Given the description of an element on the screen output the (x, y) to click on. 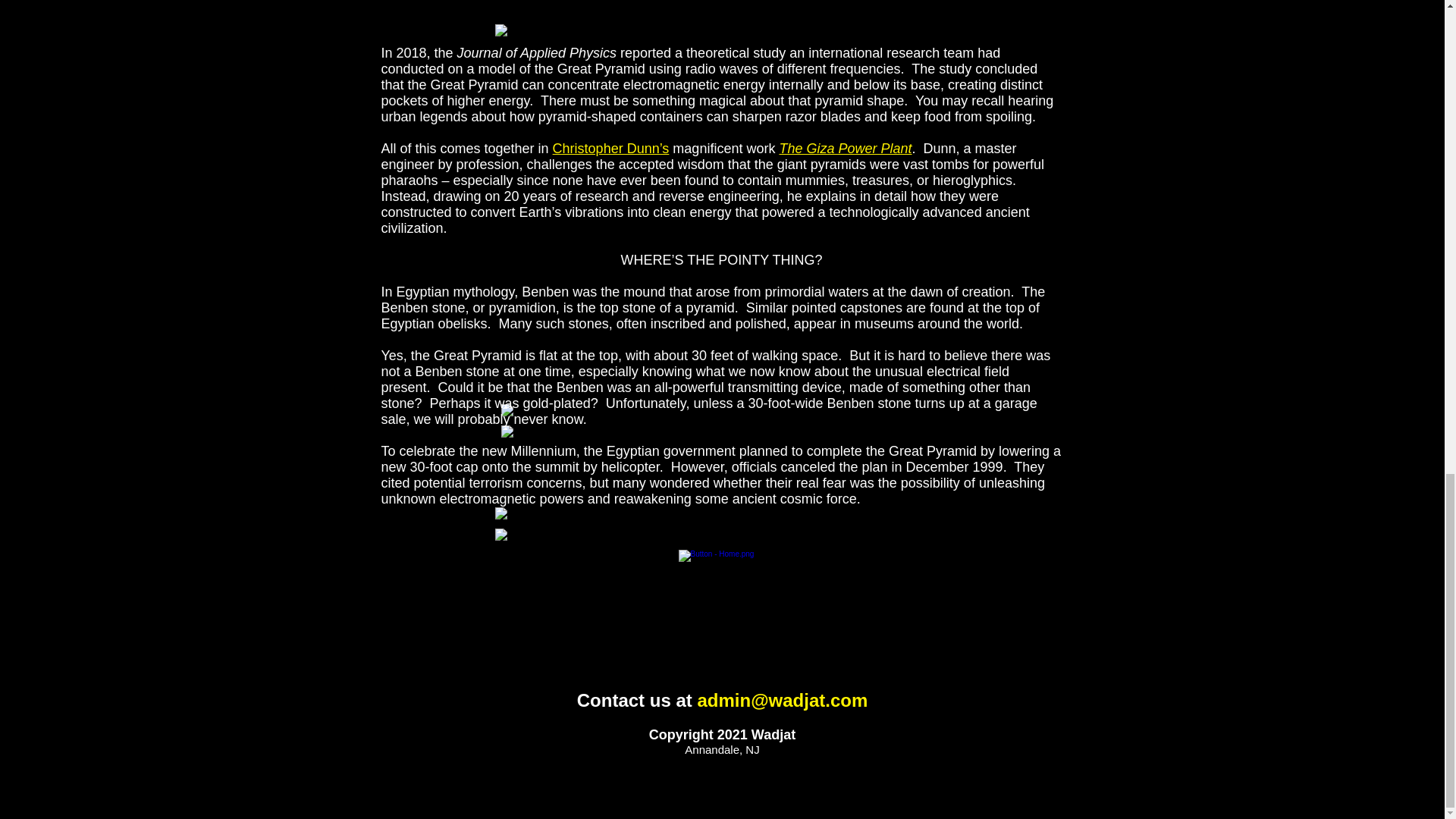
The Giza Power Plant (844, 148)
